Given the description of an element on the screen output the (x, y) to click on. 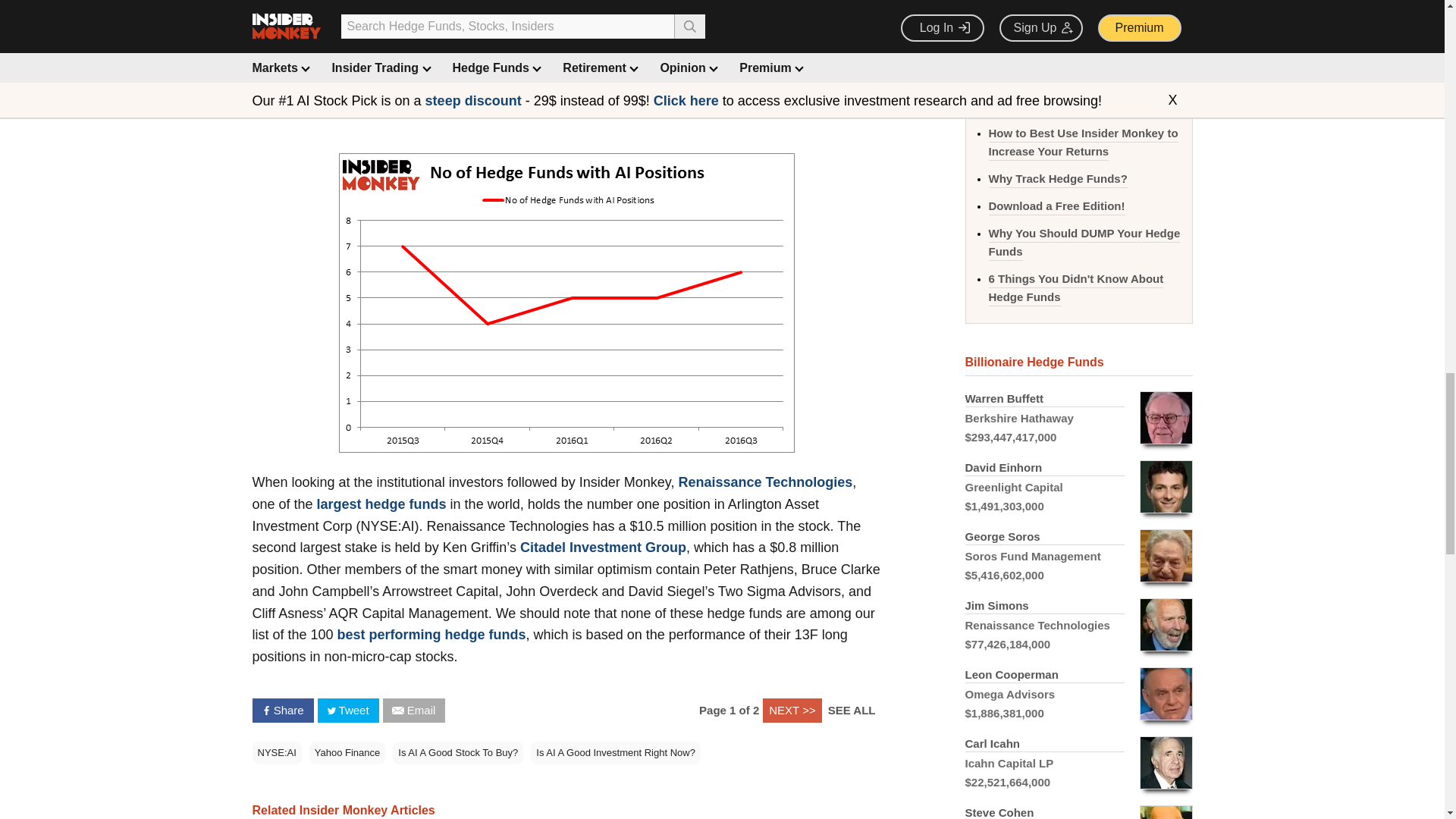
Click to see details for Soros Fund Management (1077, 555)
Click to see details for Berkshire Hathaway (1077, 418)
Click to see details for Greenlight Capital (1077, 486)
Click to see details for Point72 Asset Management (1077, 808)
Click to see details for Icahn Capital LP (1077, 762)
Click to see details for Renaissance Technologies (1077, 625)
Click to see details for Omega Advisors (1077, 694)
